Given the description of an element on the screen output the (x, y) to click on. 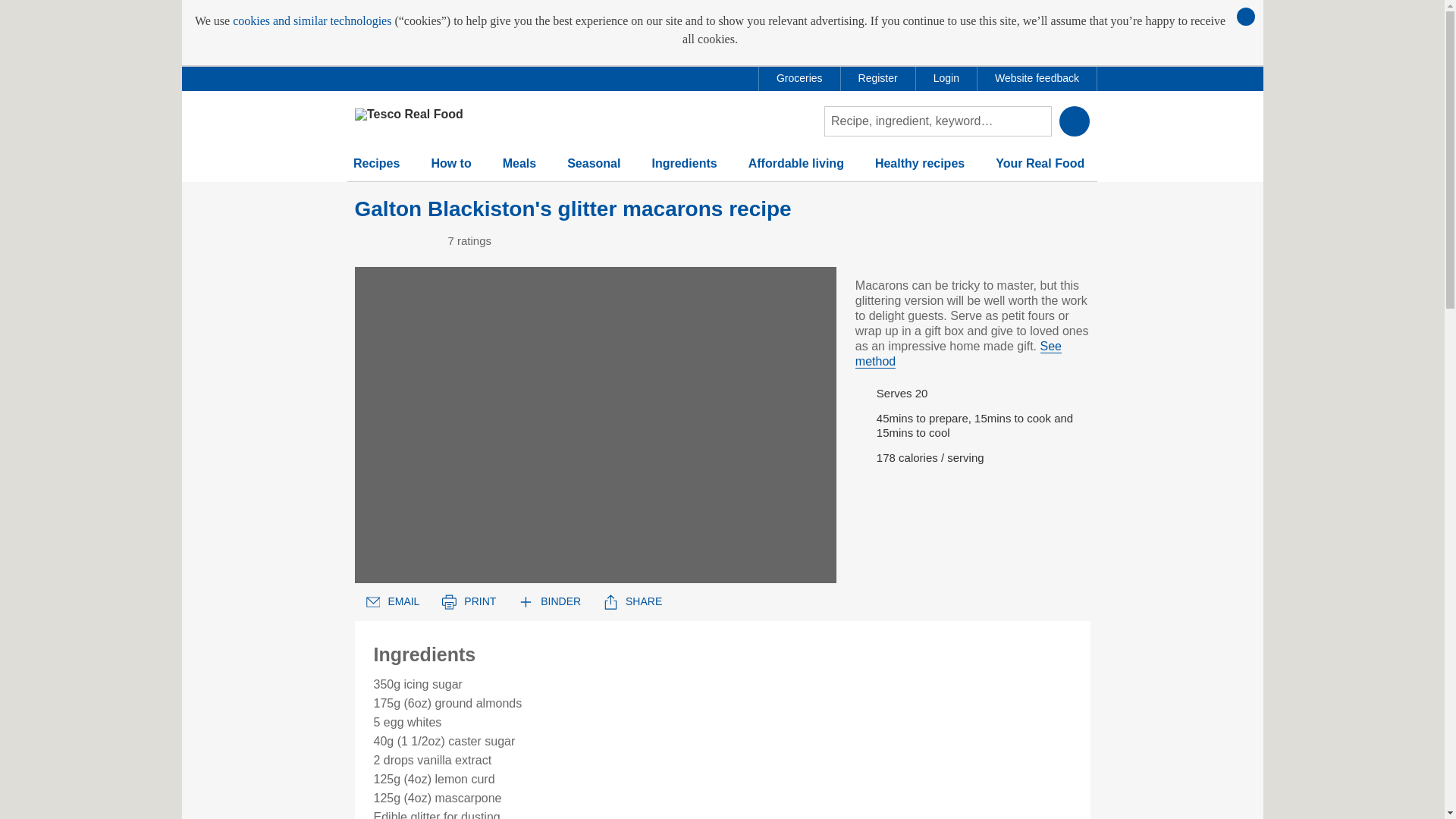
Close cookie policy banner (1245, 16)
Recipes (376, 169)
Search (1074, 121)
Login (945, 78)
cookies and similar technologies (311, 20)
Website feedback (1036, 78)
Search (1074, 121)
Register (878, 78)
Groceries (799, 78)
